Given the description of an element on the screen output the (x, y) to click on. 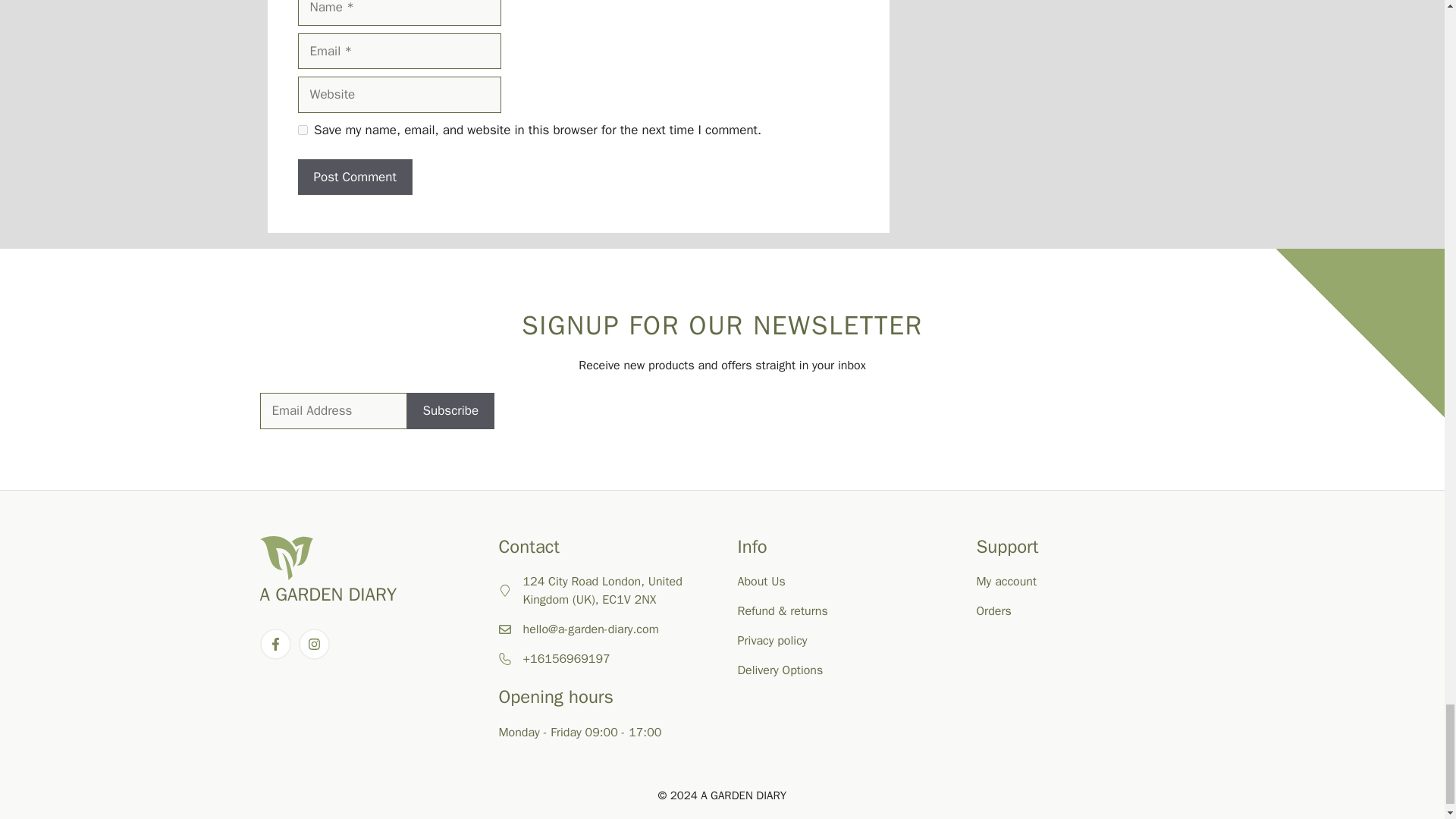
Post Comment (354, 176)
Privacy policy (771, 640)
yes (302, 130)
Post Comment (354, 176)
About Us (760, 581)
Subscribe (450, 411)
Subscribe (450, 411)
Botanist logo (286, 557)
